Given the description of an element on the screen output the (x, y) to click on. 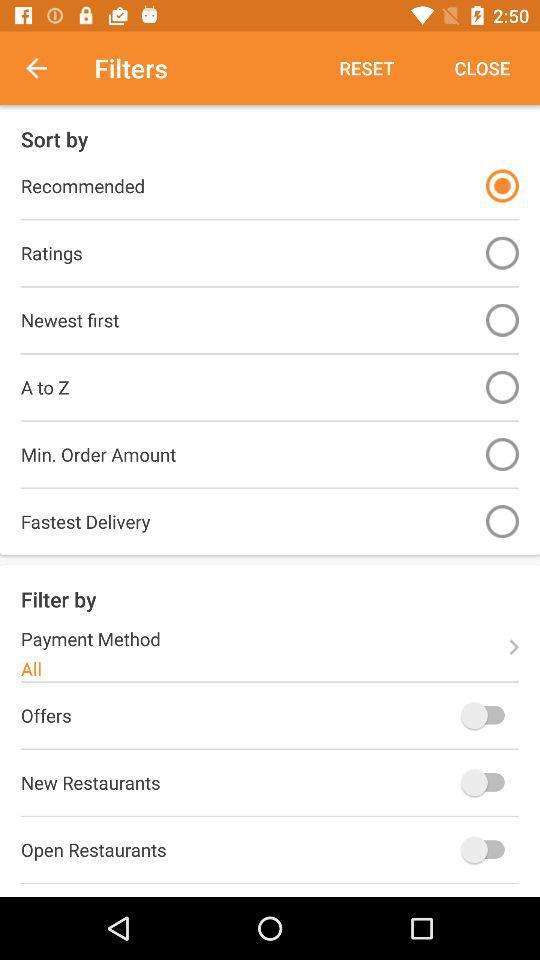
choose the item to the right of ratings icon (502, 252)
